Given the description of an element on the screen output the (x, y) to click on. 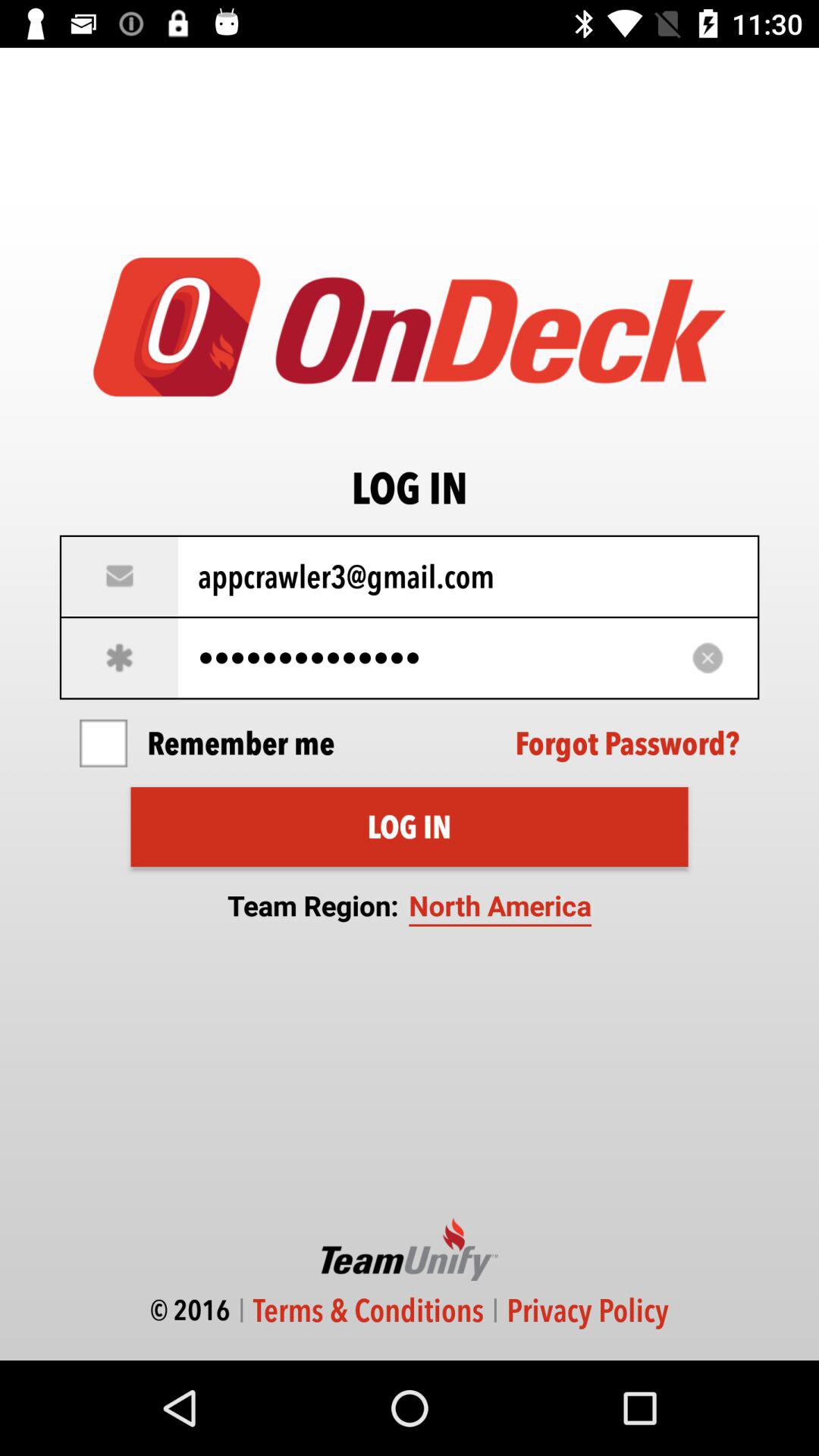
press item next to remember me item (103, 743)
